Given the description of an element on the screen output the (x, y) to click on. 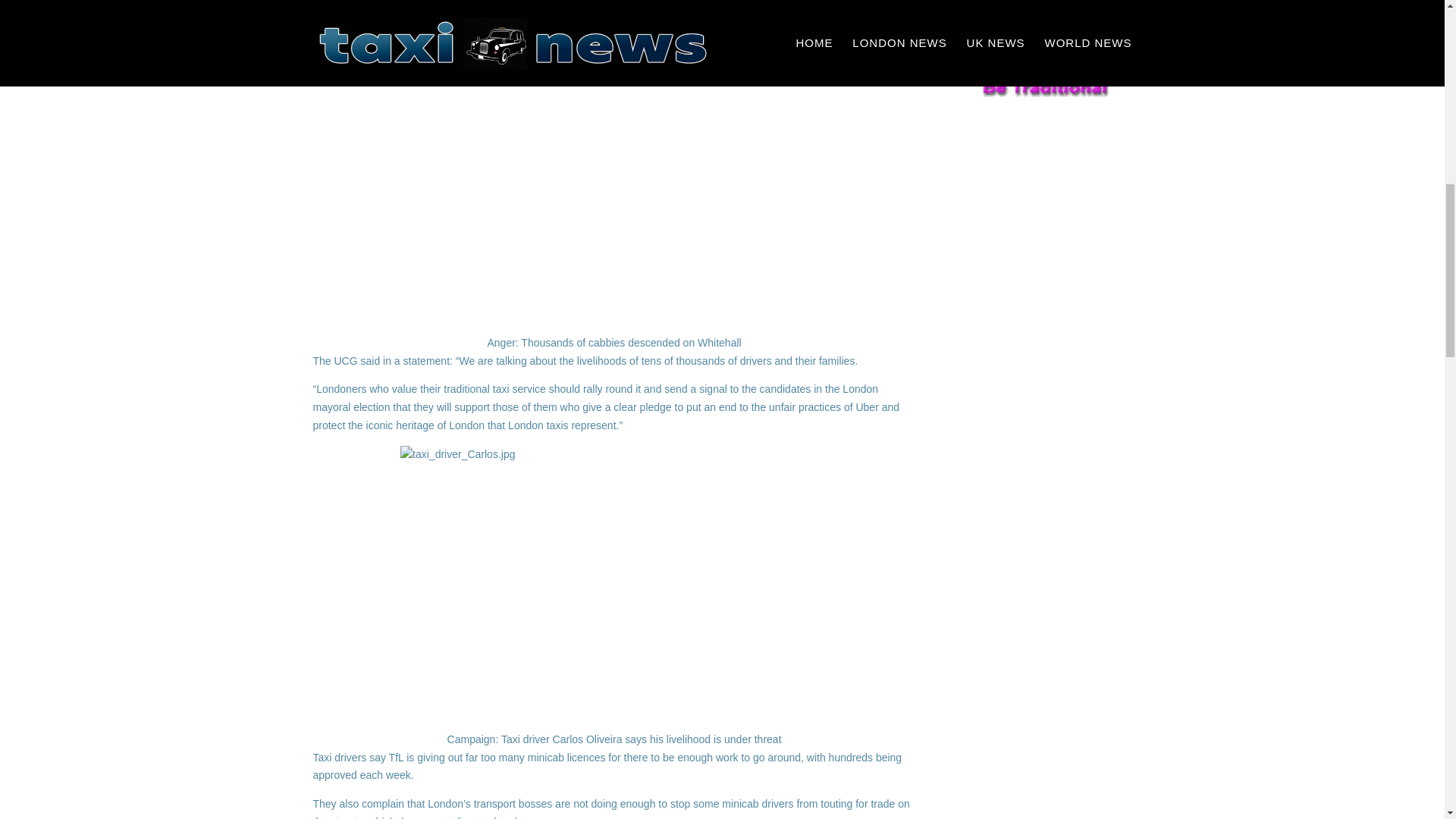
TAXIPROTEST1002B.jpg (614, 191)
Wedding Taxis (1045, 87)
